Given the description of an element on the screen output the (x, y) to click on. 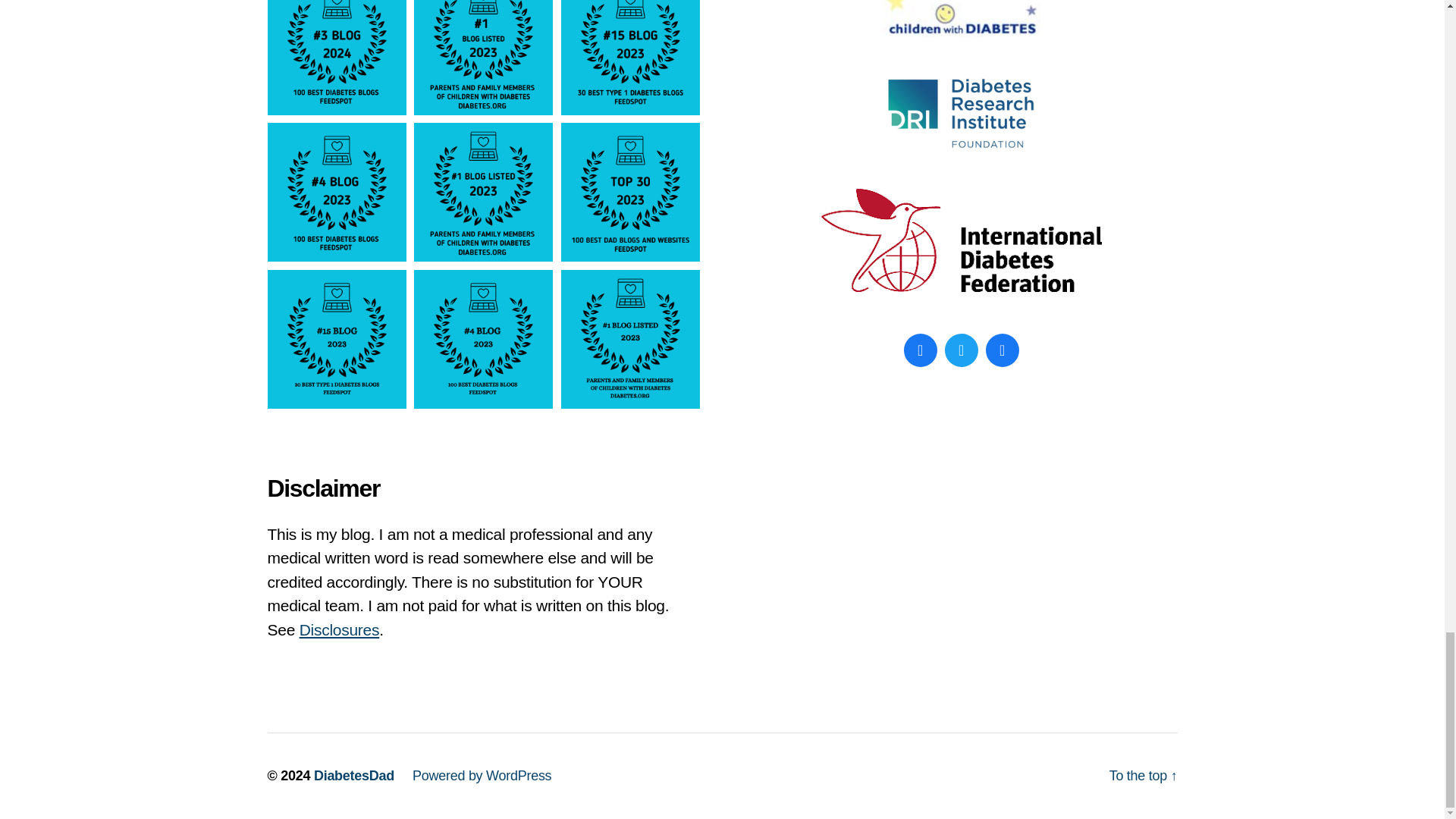
Linkedin (1001, 350)
Facebook (919, 350)
Twitter (960, 350)
